Given the description of an element on the screen output the (x, y) to click on. 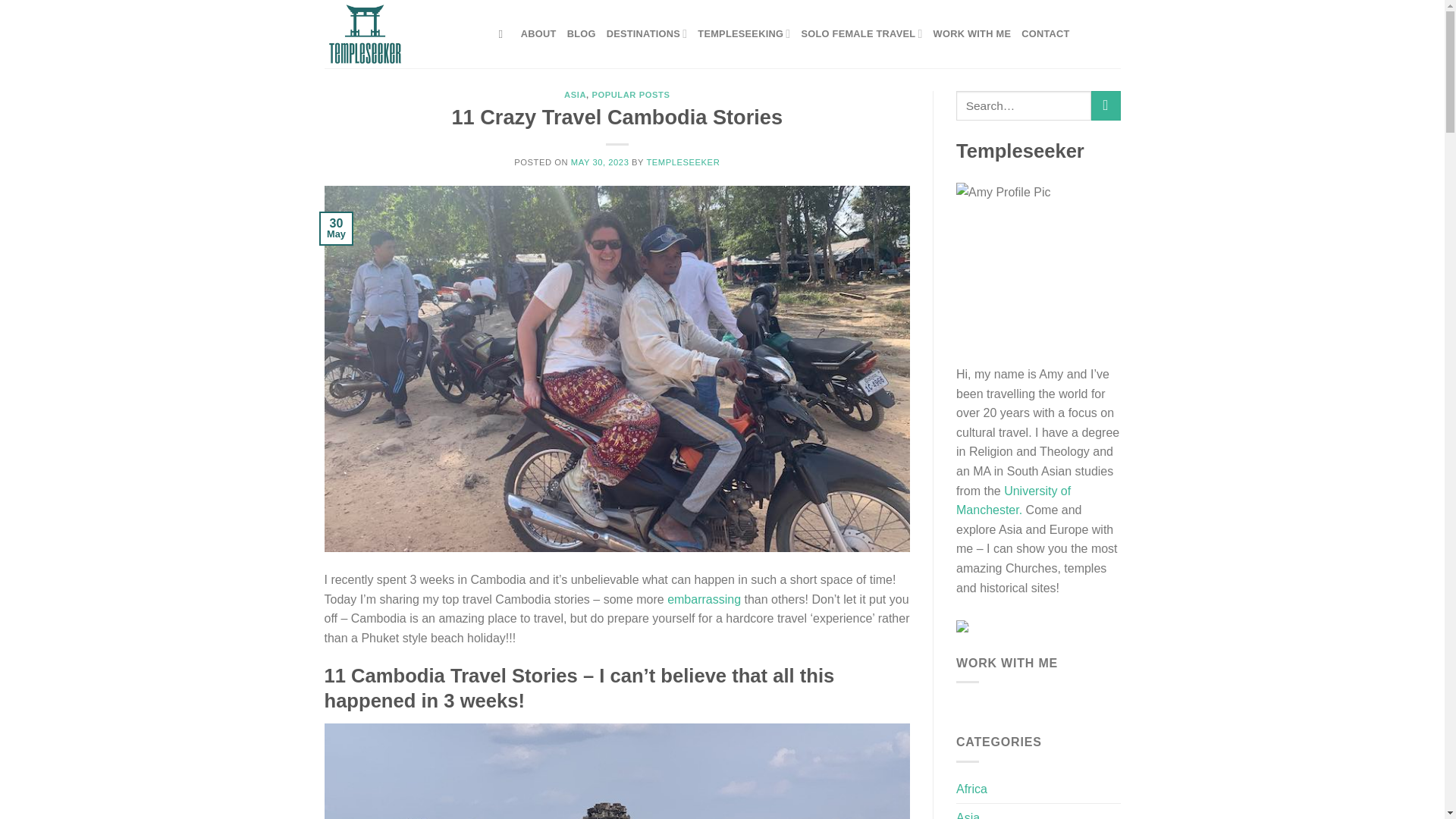
DESTINATIONS (647, 33)
TEMPLESEEKING (743, 33)
ABOUT (538, 33)
BLOG (581, 33)
